Given the description of an element on the screen output the (x, y) to click on. 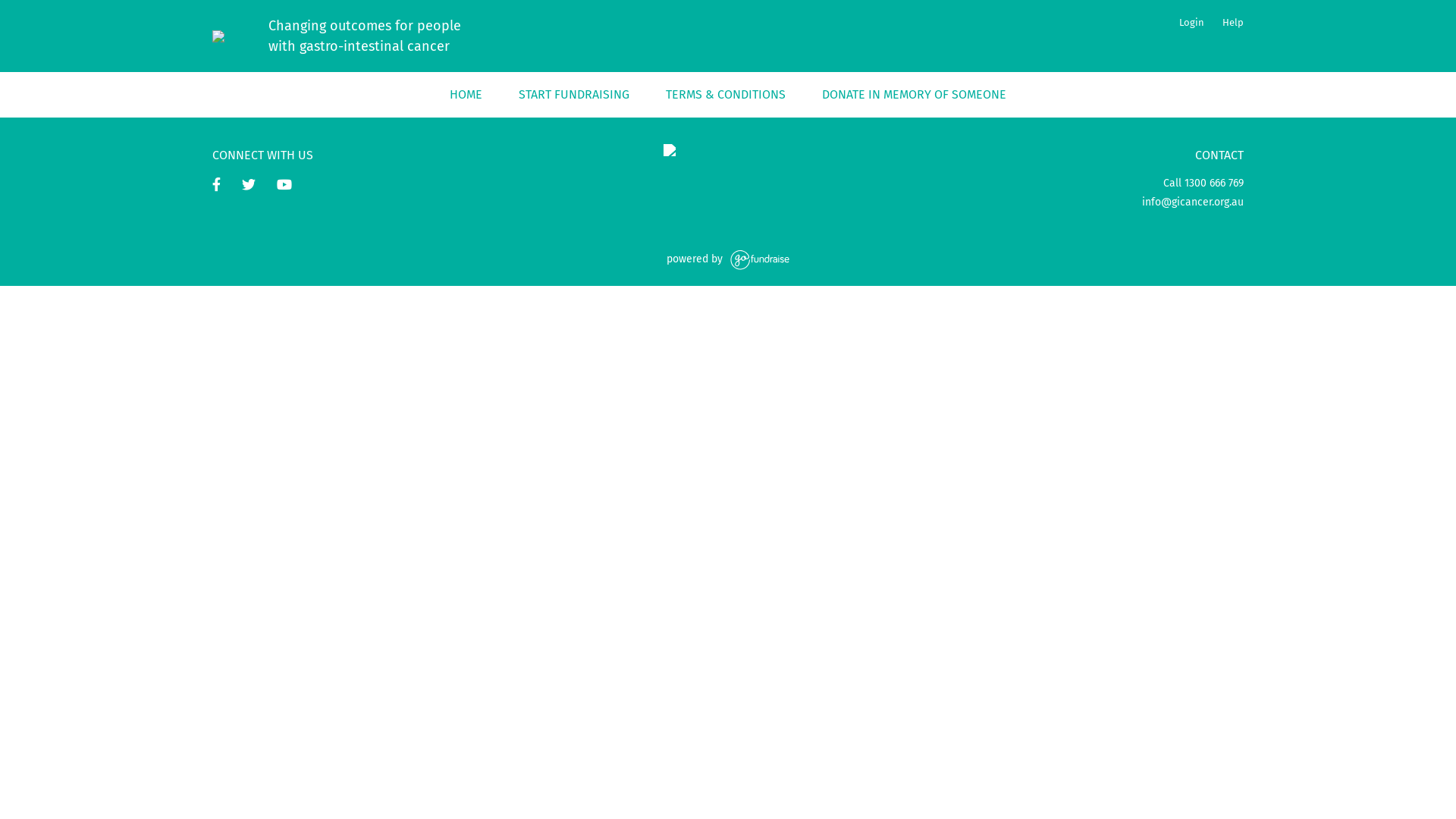
Login Element type: text (1191, 22)
Facebook Element type: hover (216, 185)
info@gicancer.org.au Element type: text (1192, 201)
HOME Element type: text (465, 94)
YouTube Element type: hover (283, 185)
Changing outcomes for people with gastro-intestinal cancer Element type: text (466, 35)
TERMS & CONDITIONS Element type: text (725, 94)
Twitter Element type: hover (248, 185)
DONATE IN MEMORY OF SOMEONE Element type: text (913, 94)
Call 1300 666 769 Element type: text (1203, 182)
Help Element type: text (1228, 22)
START FUNDRAISING Element type: text (573, 94)
